Given the description of an element on the screen output the (x, y) to click on. 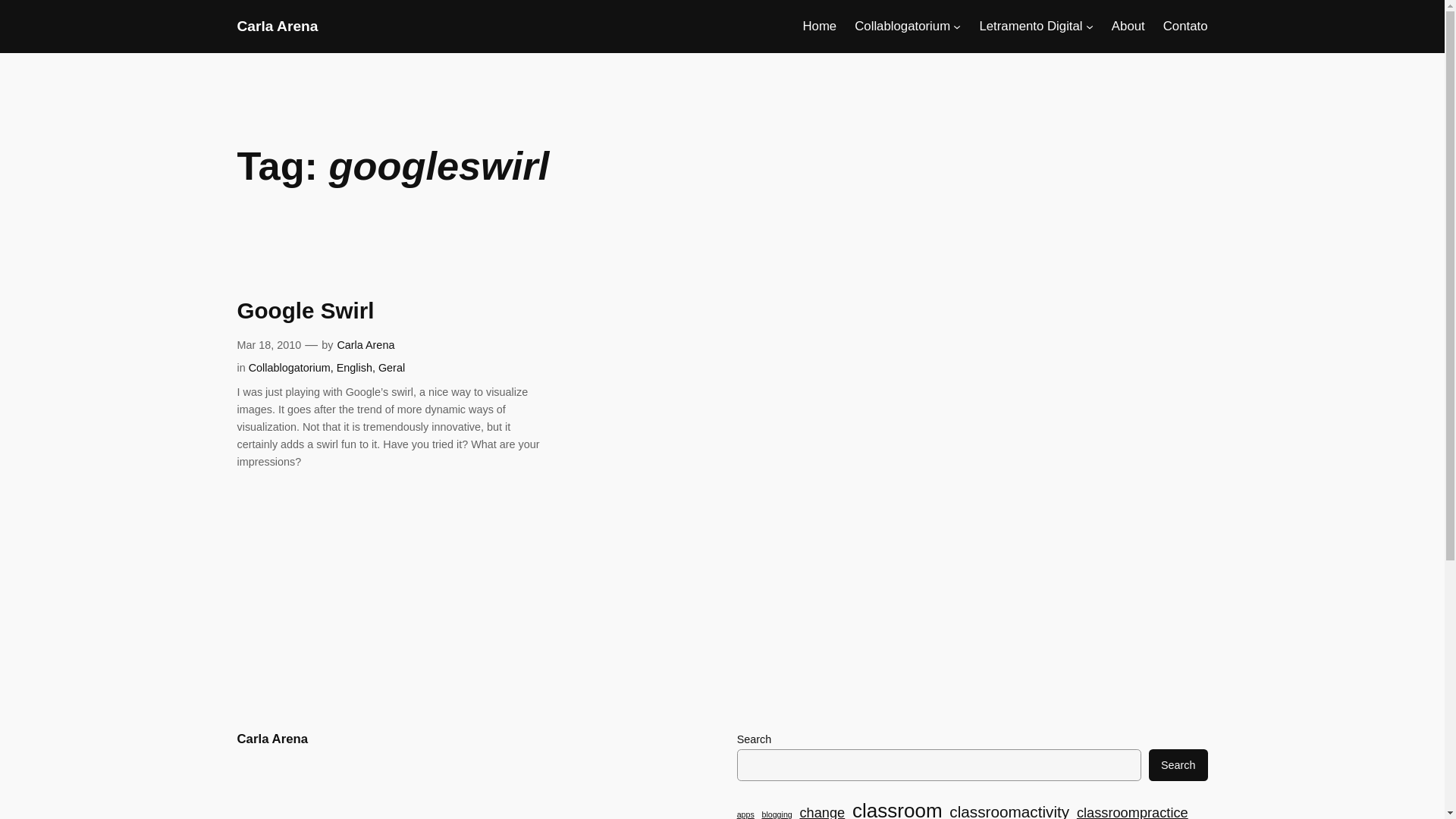
Carla Arena (271, 739)
Contato (1185, 26)
Collablogatorium (289, 367)
apps (745, 813)
Mar 18, 2010 (268, 345)
English (354, 367)
Collablogatorium (902, 26)
Letramento Digital (1029, 26)
classroompractice (1132, 810)
Carla Arena (365, 345)
change (821, 810)
Google Swirl (304, 310)
blogging (776, 813)
Geral (391, 367)
classroom (896, 807)
